Given the description of an element on the screen output the (x, y) to click on. 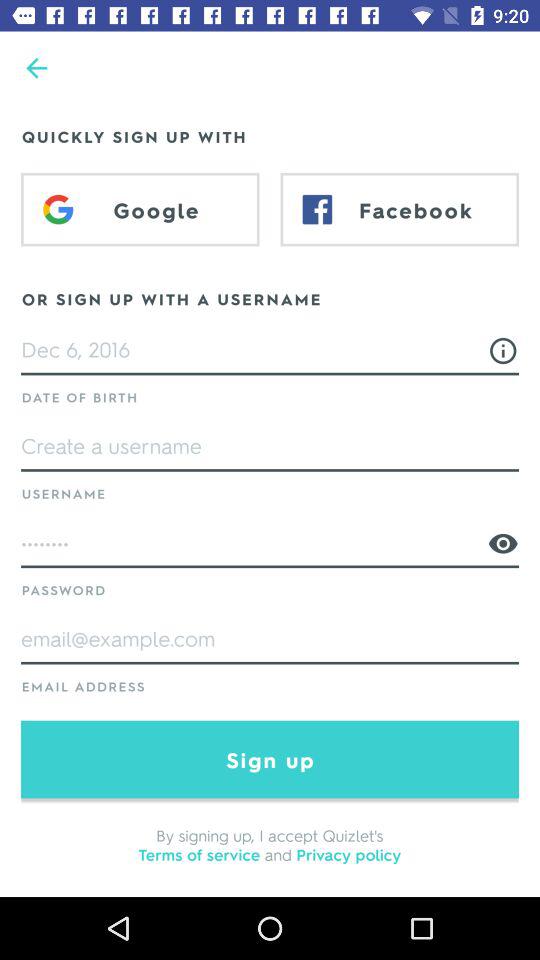
turn on item below the sign up icon (269, 844)
